Given the description of an element on the screen output the (x, y) to click on. 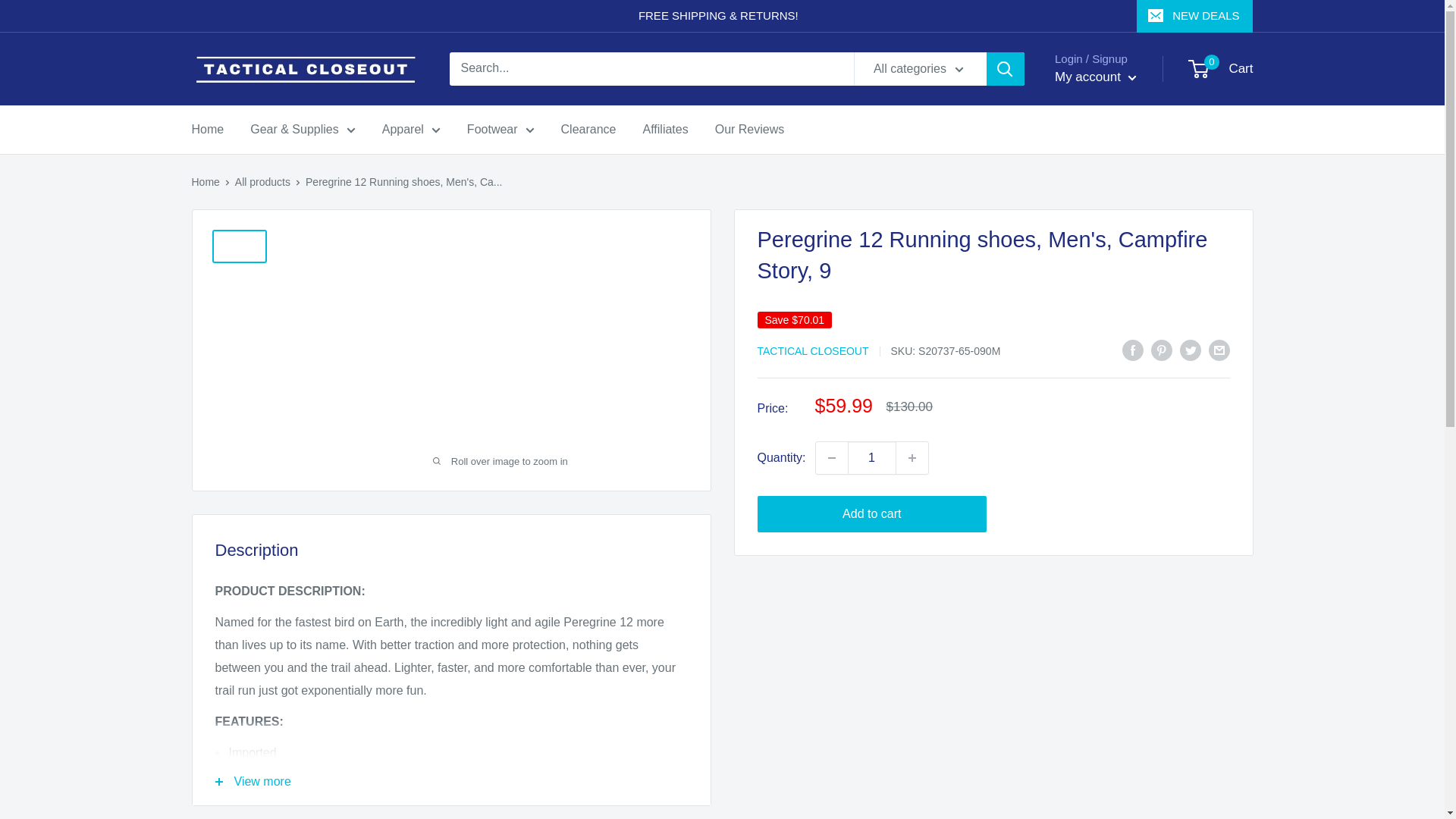
Increase quantity by 1 (912, 458)
NEW DEALS (1194, 15)
Decrease quantity by 1 (831, 458)
1 (871, 458)
